Given the description of an element on the screen output the (x, y) to click on. 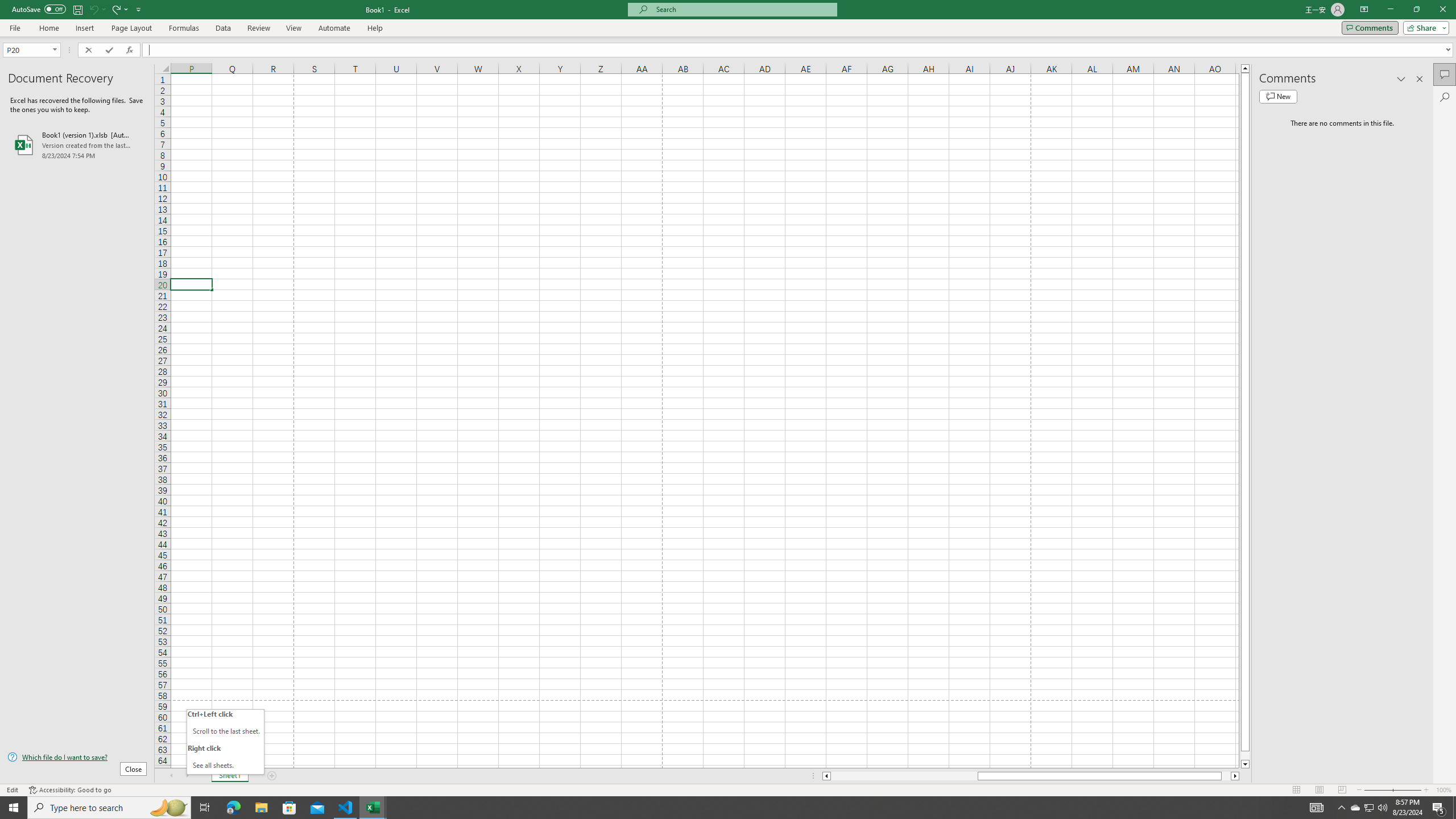
Normal (1296, 790)
Quick Access Toolbar (77, 9)
Zoom In (1426, 790)
Data (223, 28)
Close pane (1419, 78)
Page down (1245, 755)
New comment (1278, 96)
Open (54, 49)
Microsoft search (742, 9)
Formulas (184, 28)
Redo (119, 9)
Home (48, 28)
File Tab (15, 27)
Page left (903, 775)
View (293, 28)
